Given the description of an element on the screen output the (x, y) to click on. 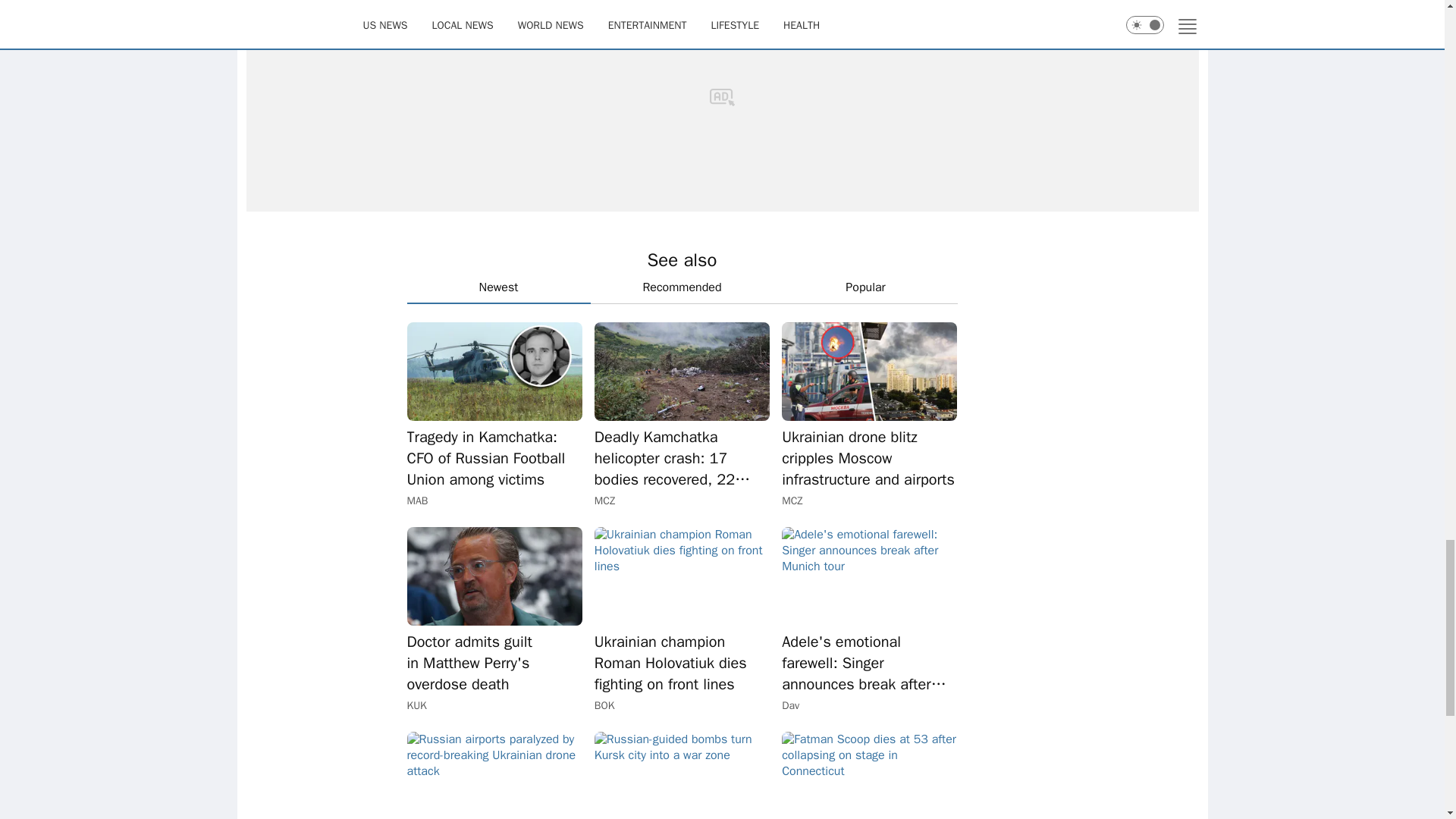
Doctor admits guilt in Matthew Perry's overdose death (493, 576)
Newest (497, 287)
